Given the description of an element on the screen output the (x, y) to click on. 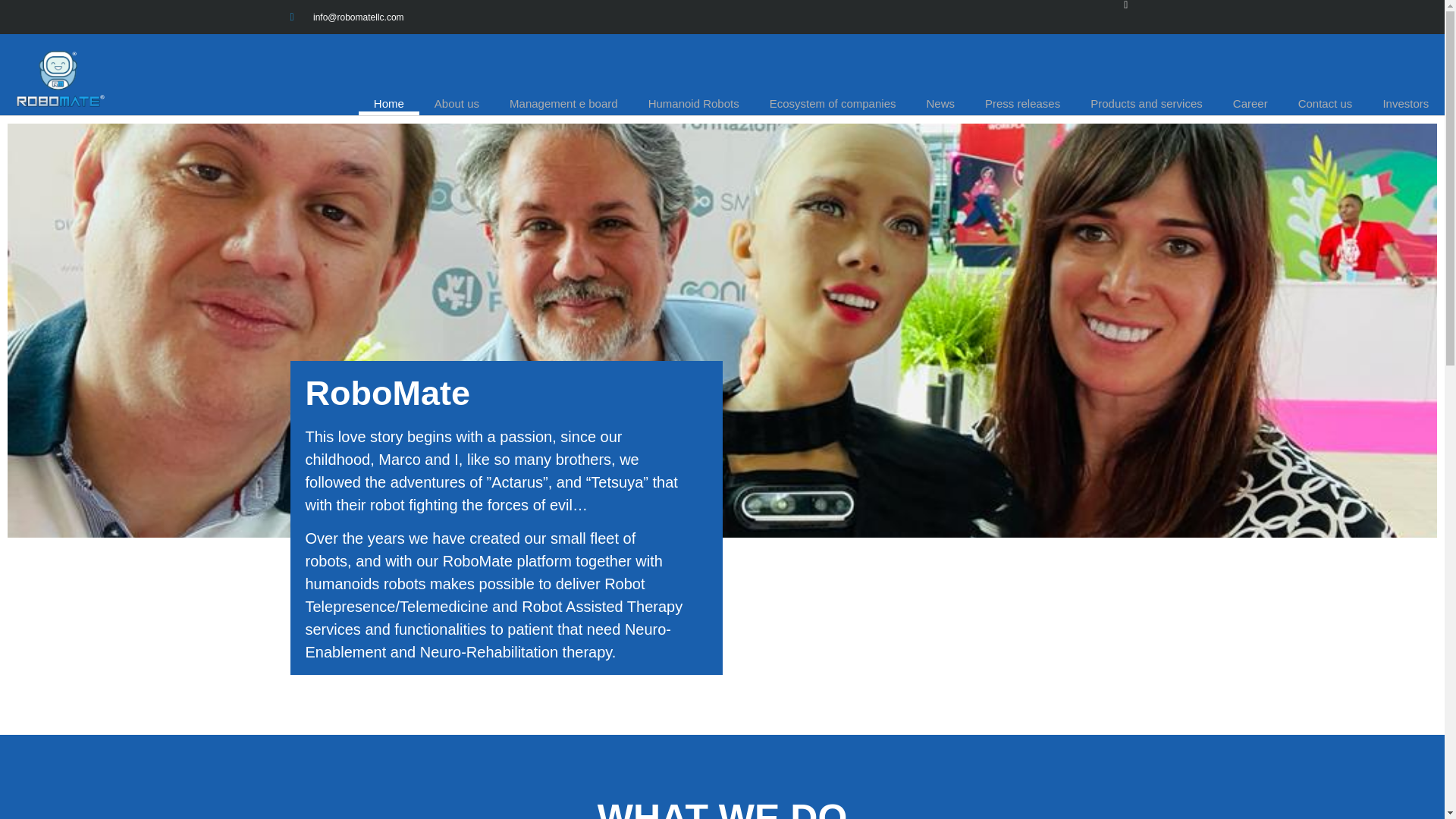
About us (457, 103)
Contact us (1325, 103)
Investors (1405, 103)
Ecosystem of companies (832, 103)
Management e board (564, 103)
News (940, 103)
Press releases (1022, 103)
Humanoid Robots (693, 103)
Career (1249, 103)
Home (388, 103)
Products and services (1146, 103)
